Given the description of an element on the screen output the (x, y) to click on. 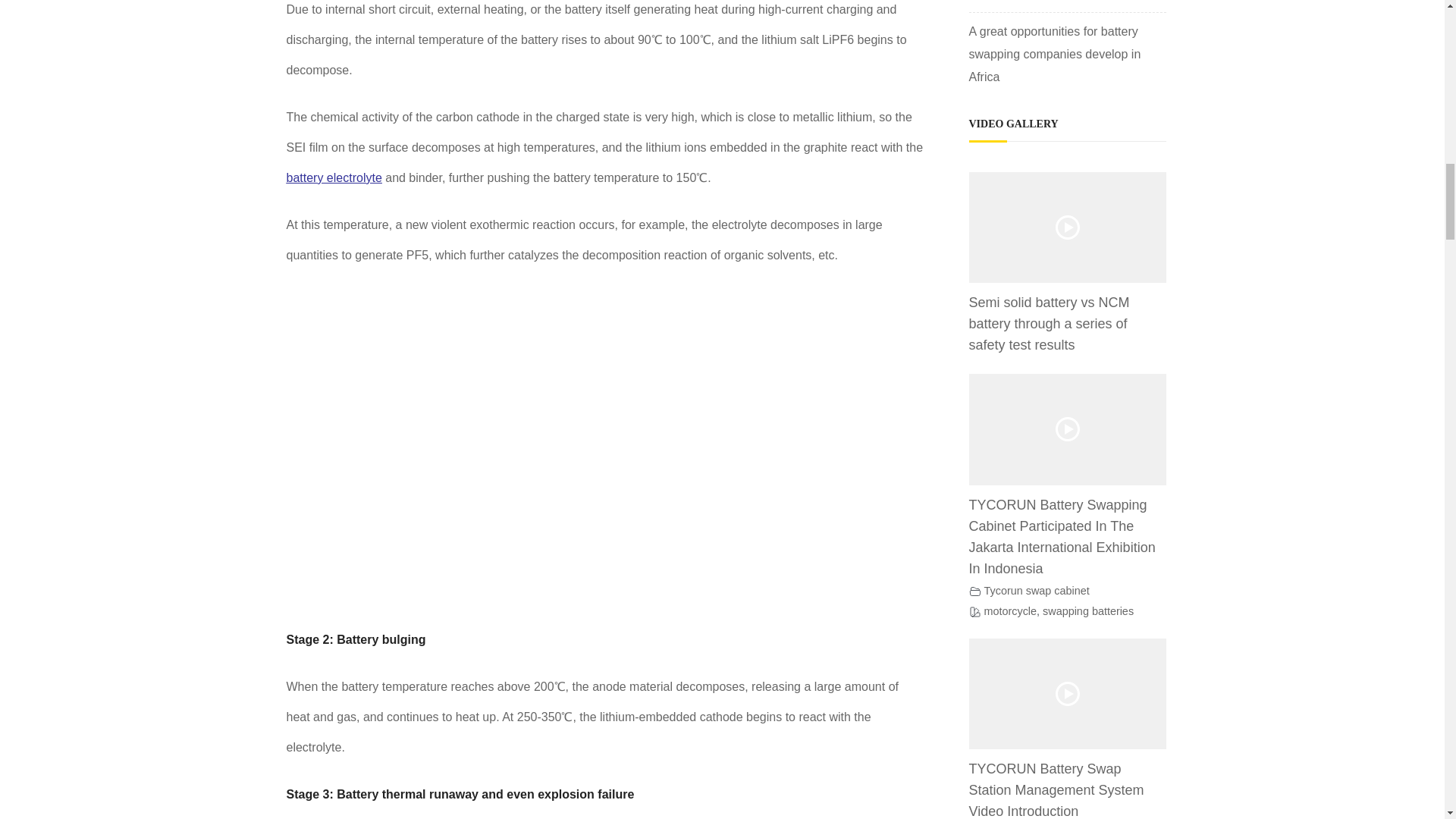
battery electrolyte (333, 177)
